Given the description of an element on the screen output the (x, y) to click on. 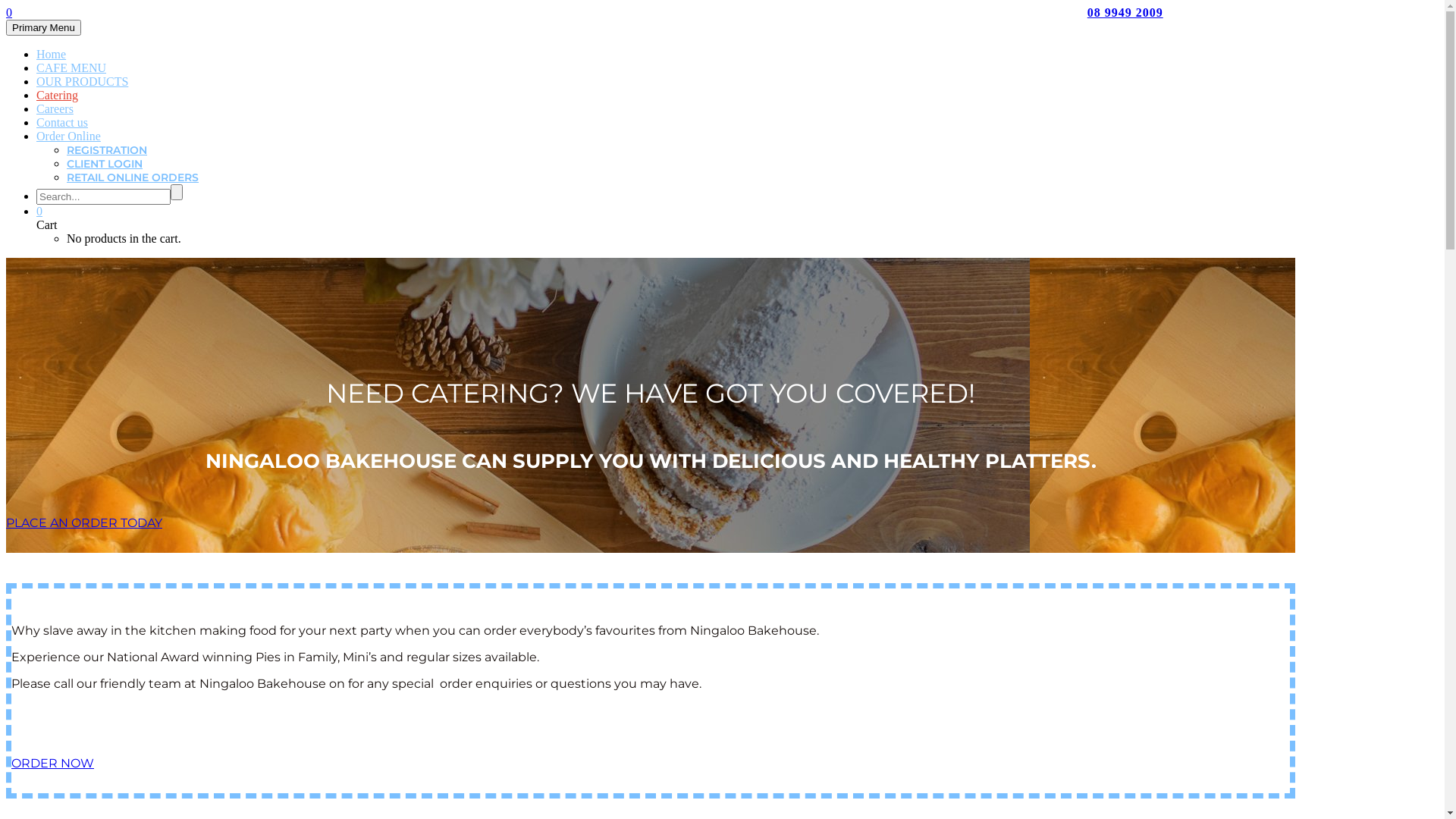
Order Online Element type: text (68, 135)
orders@ningaloobakehouse.com.au Element type: text (1191, 25)
Primary Menu Element type: text (43, 27)
CAFE MENU Element type: text (71, 67)
Contact us Element type: text (61, 122)
REGISTRATION Element type: text (106, 149)
CLIENT LOGIN Element type: text (104, 163)
08 9949 2009 Element type: text (1125, 12)
0 Element type: text (39, 210)
RETAIL ONLINE ORDERS Element type: text (132, 177)
OUR PRODUCTS Element type: text (82, 81)
PLACE AN ORDER TODAY Element type: text (84, 522)
0 Element type: text (9, 12)
Home Element type: text (50, 53)
Careers Element type: text (54, 108)
ORDER NOW Element type: text (52, 763)
Catering Element type: text (57, 94)
